Given the description of an element on the screen output the (x, y) to click on. 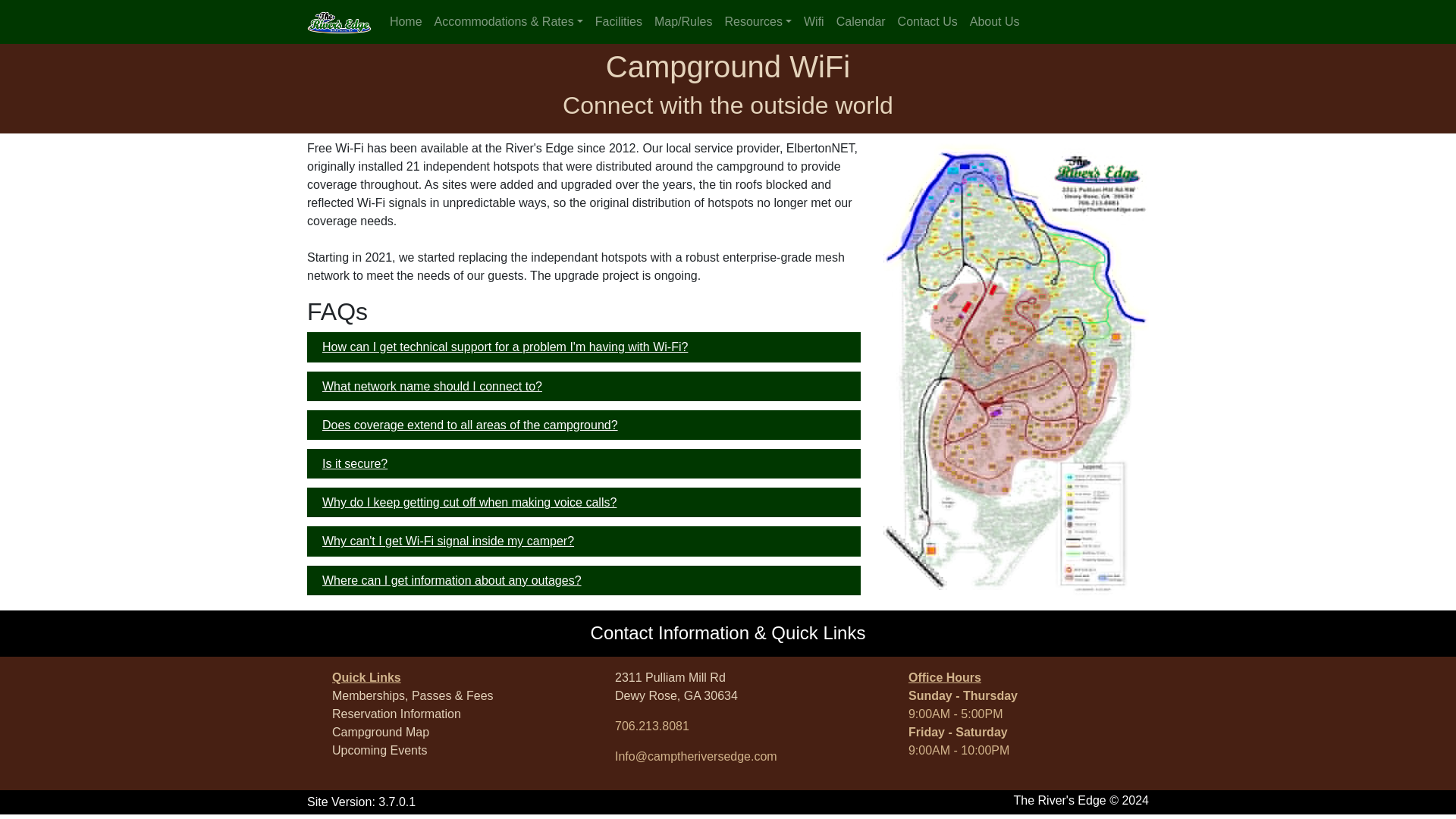
Upcoming Events (676, 685)
Resources (378, 748)
Campground Map (757, 21)
Why can't I get Wi-Fi signal inside my camper? (380, 730)
Reservation Information (447, 540)
What network name should I connect to? (396, 712)
Why do I keep getting cut off when making voice calls? (431, 386)
Is it secure? (468, 502)
